Given the description of an element on the screen output the (x, y) to click on. 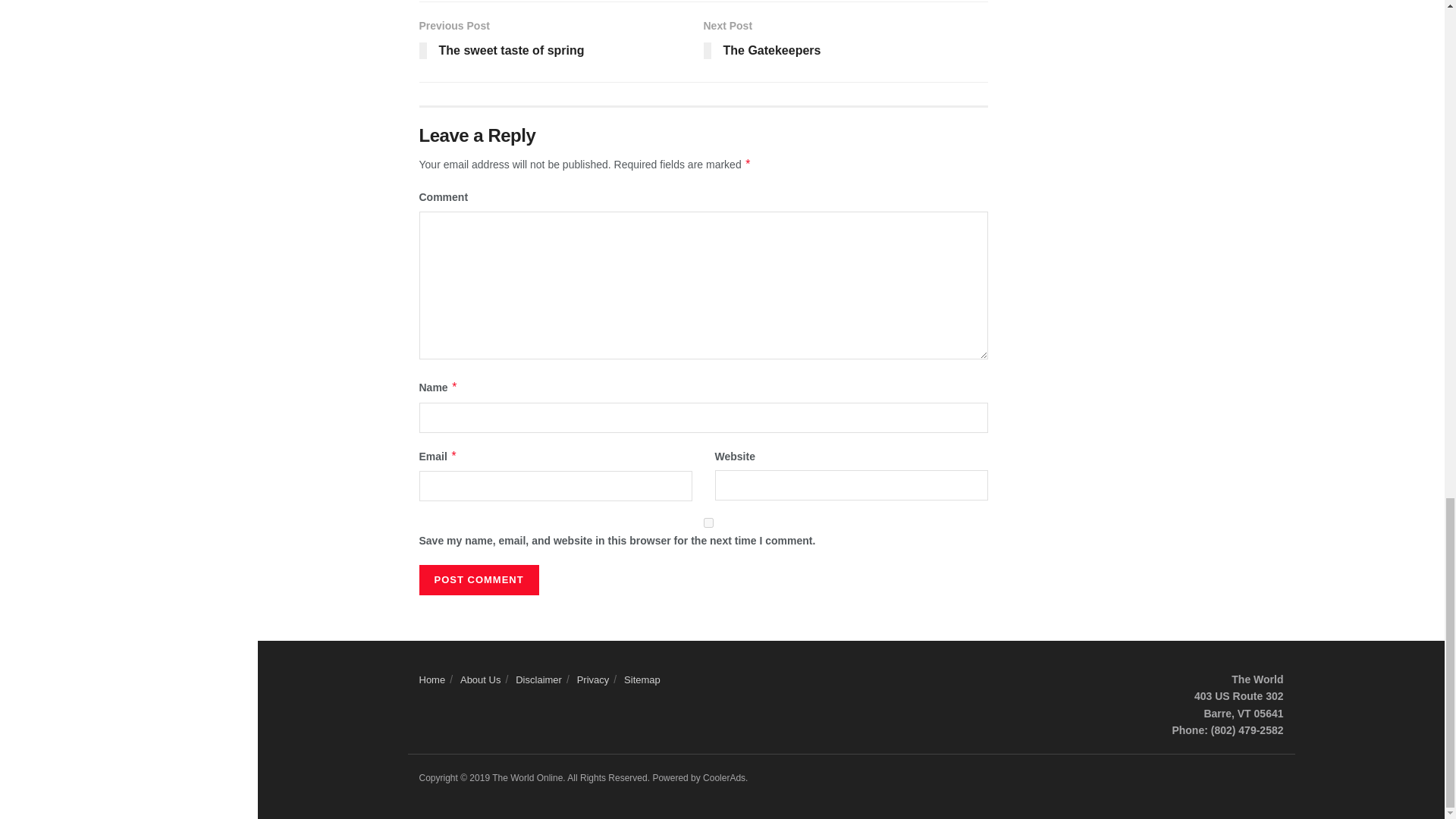
Post Comment (478, 580)
yes (708, 522)
